Given the description of an element on the screen output the (x, y) to click on. 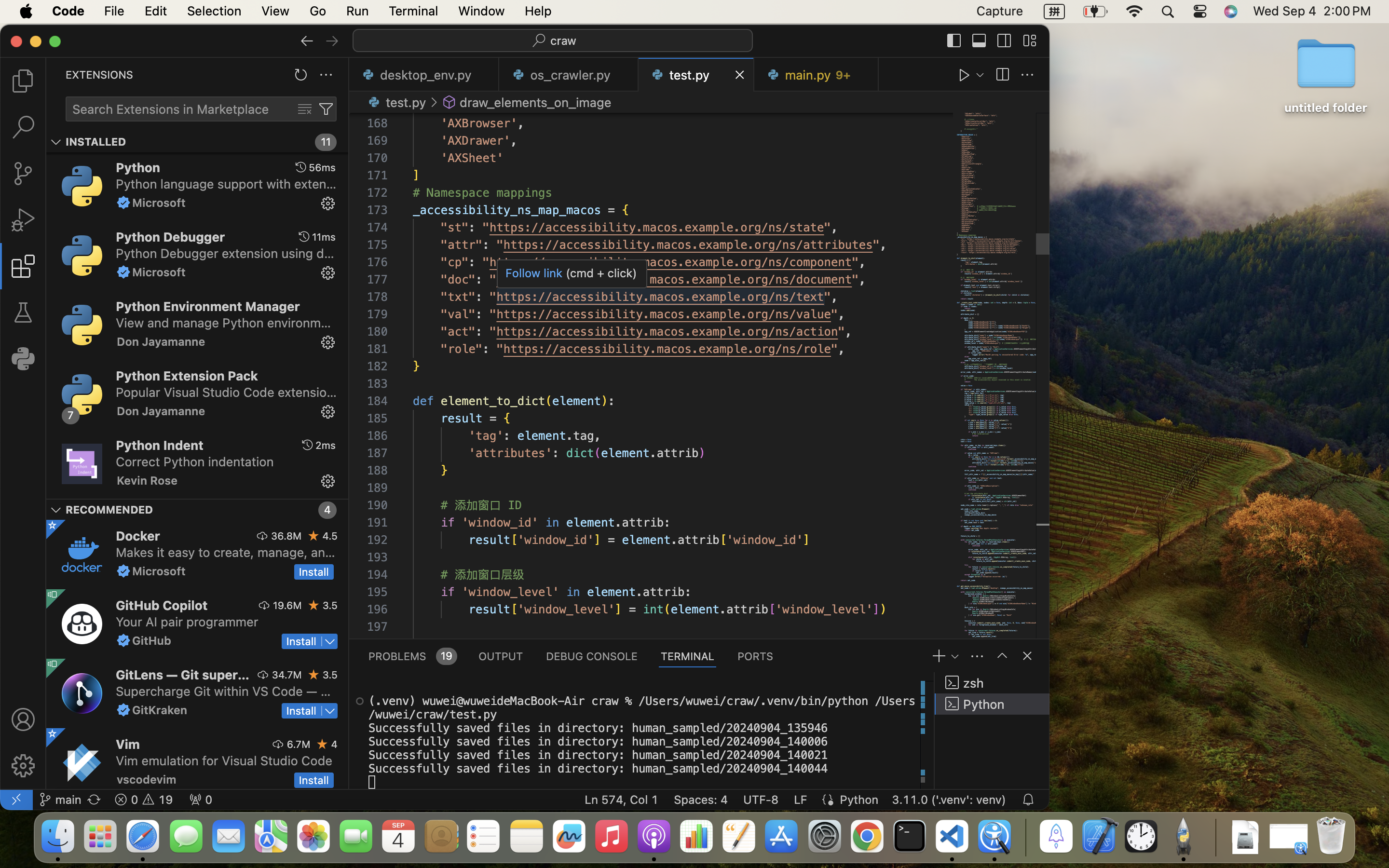
 Element type: AXButton (1026, 655)
Python Extension Pack Element type: AXStaticText (186, 375)
 Element type: AXGroup (23, 312)
0 DEBUG CONSOLE Element type: AXRadioButton (591, 655)
 Element type: AXGroup (23, 765)
